Given the description of an element on the screen output the (x, y) to click on. 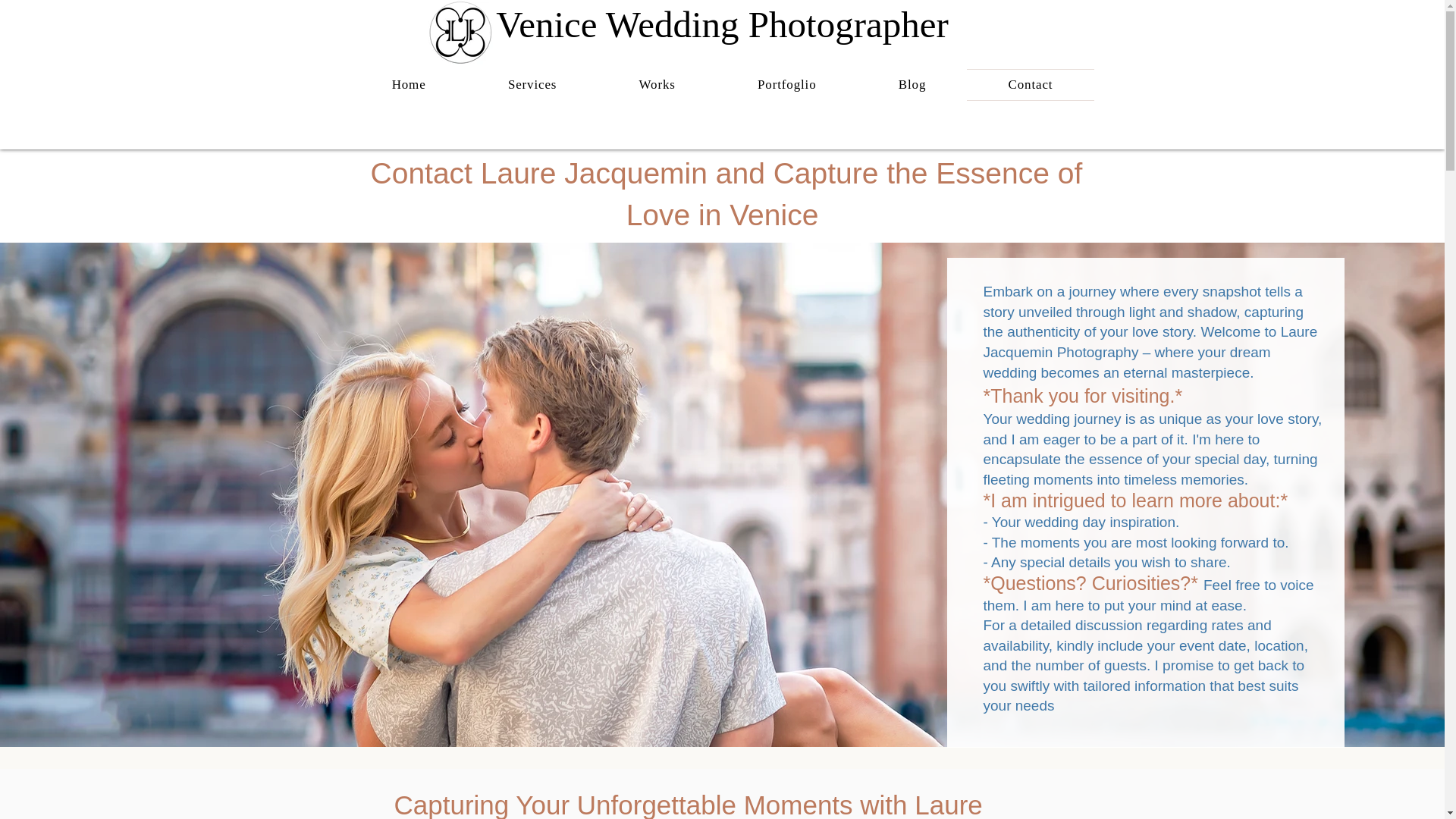
Blog (912, 84)
Portfoglio (786, 84)
Services (532, 84)
Home (407, 84)
Works (656, 84)
Contact (1029, 84)
laure jacquemin logo (460, 32)
